Given the description of an element on the screen output the (x, y) to click on. 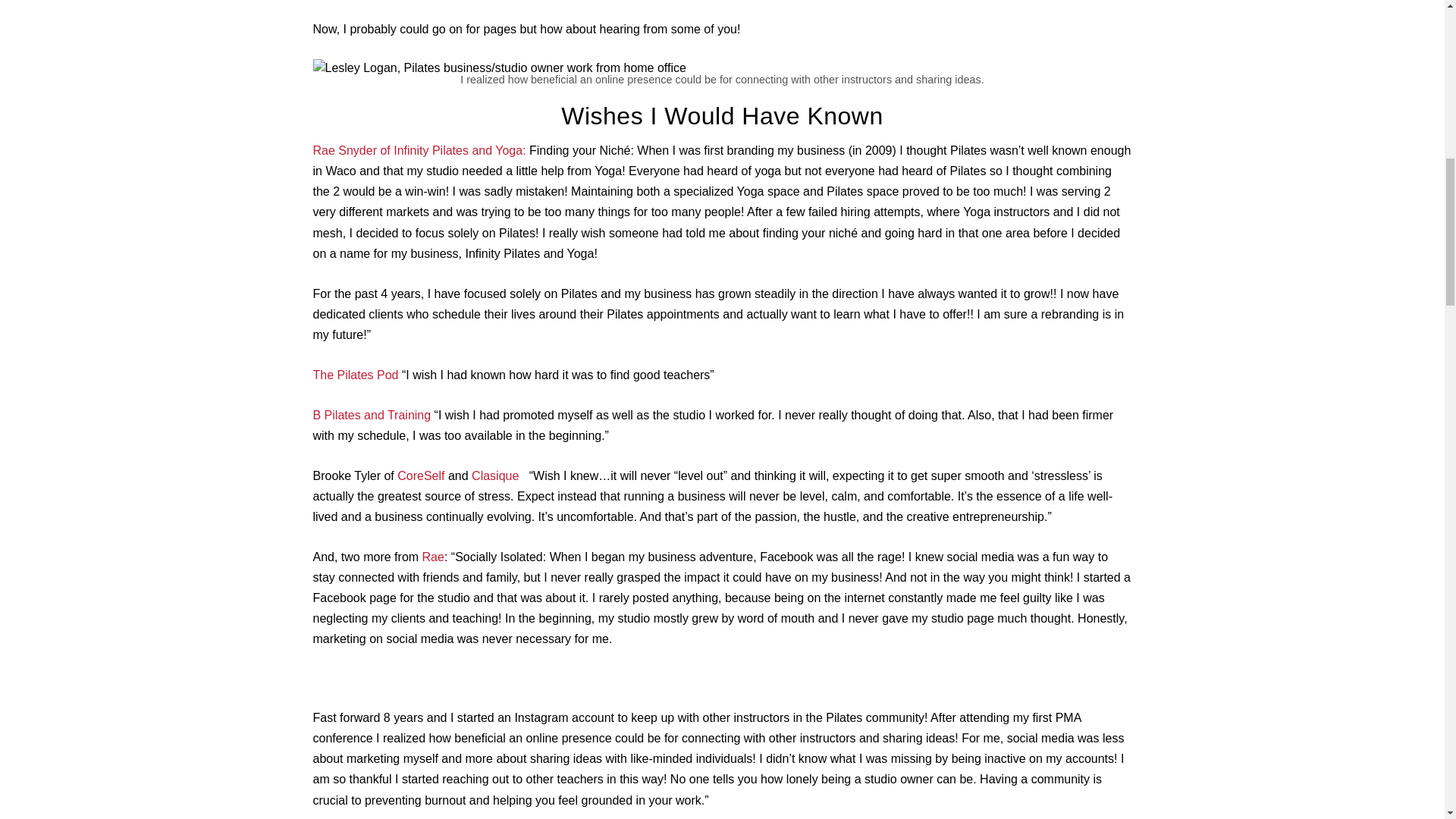
The Pilates Pod  (357, 374)
Rae Snyder of Infinity Pilates and Yoga: (419, 150)
